Given the description of an element on the screen output the (x, y) to click on. 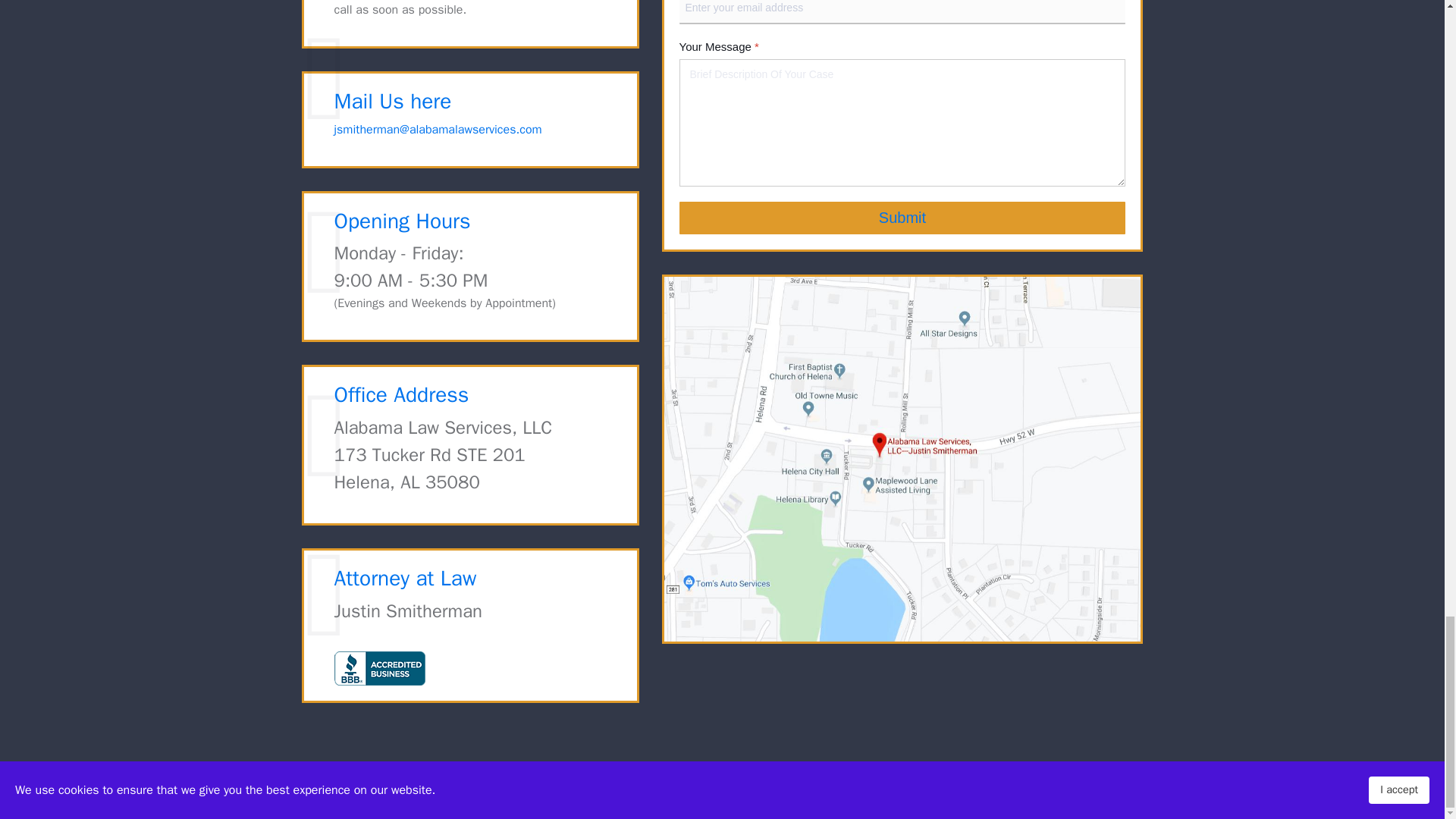
Submit (902, 217)
Birmingham SEO Company (680, 791)
